Given the description of an element on the screen output the (x, y) to click on. 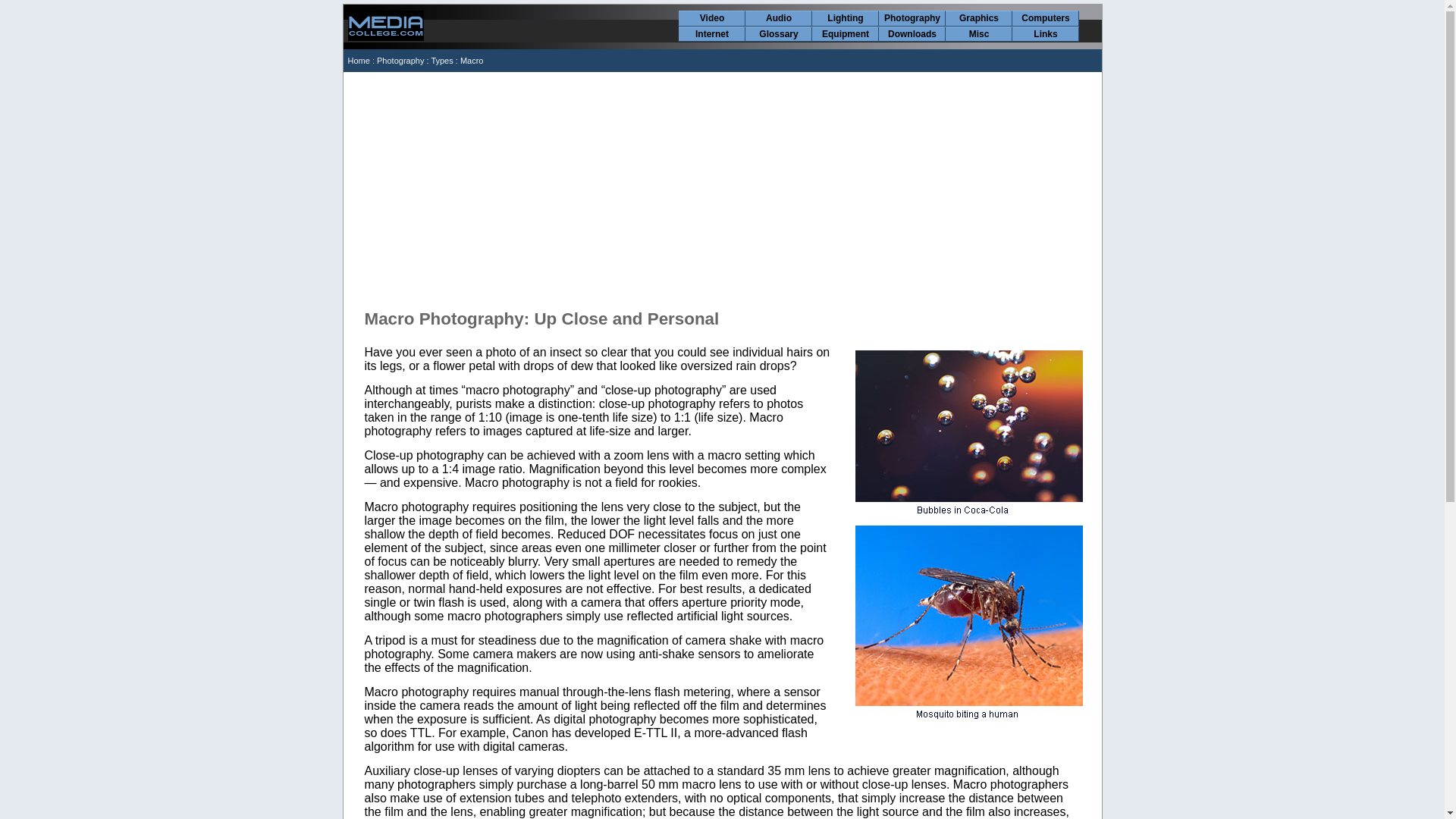
Home (358, 60)
Internet (711, 34)
Audio (778, 18)
Video (711, 18)
Misc (978, 34)
Photography (911, 18)
Glossary (778, 34)
Photography (400, 60)
Equipment (845, 34)
Lighting (845, 18)
Types (441, 60)
Computers (1045, 18)
Graphics (978, 18)
Links (1045, 34)
Downloads (911, 34)
